Given the description of an element on the screen output the (x, y) to click on. 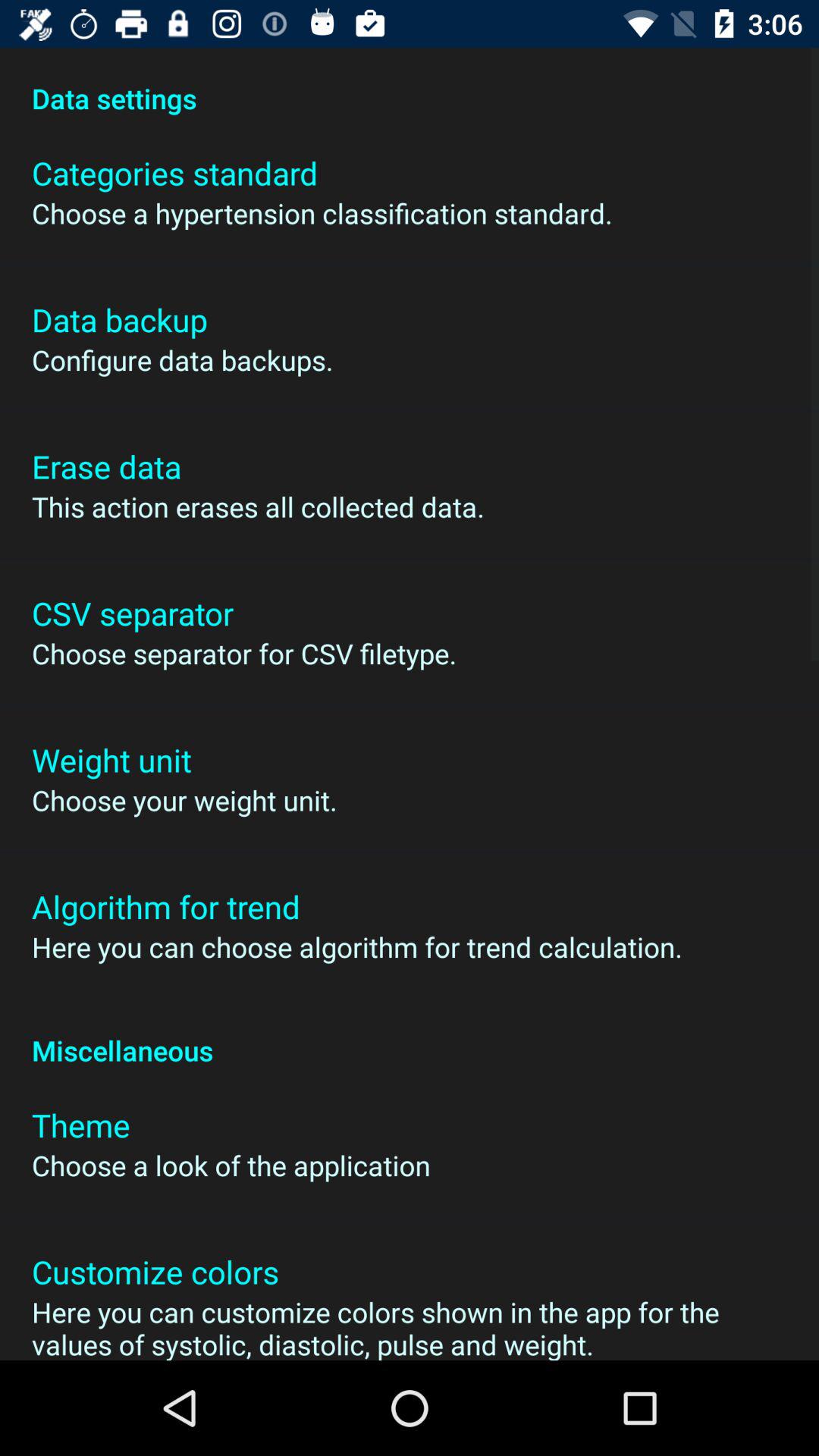
swipe until miscellaneous icon (409, 1034)
